Given the description of an element on the screen output the (x, y) to click on. 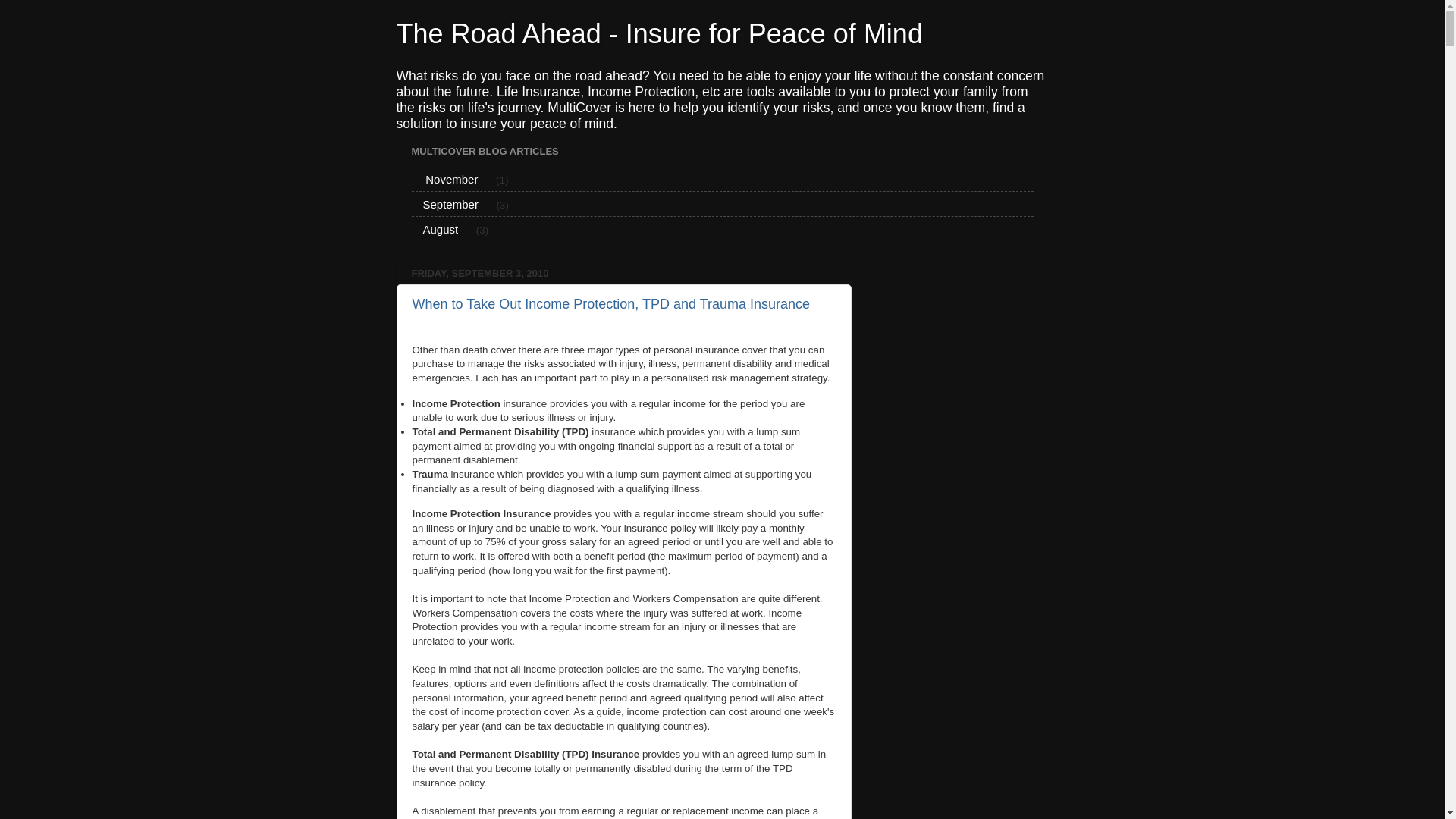
August Element type: text (440, 228)
The Road Ahead - Insure for Peace of Mind Element type: text (658, 33)
September Element type: text (450, 203)
November Element type: text (450, 178)
When to Take Out Income Protection, TPD and Trauma Insurance Element type: text (611, 303)
